Given the description of an element on the screen output the (x, y) to click on. 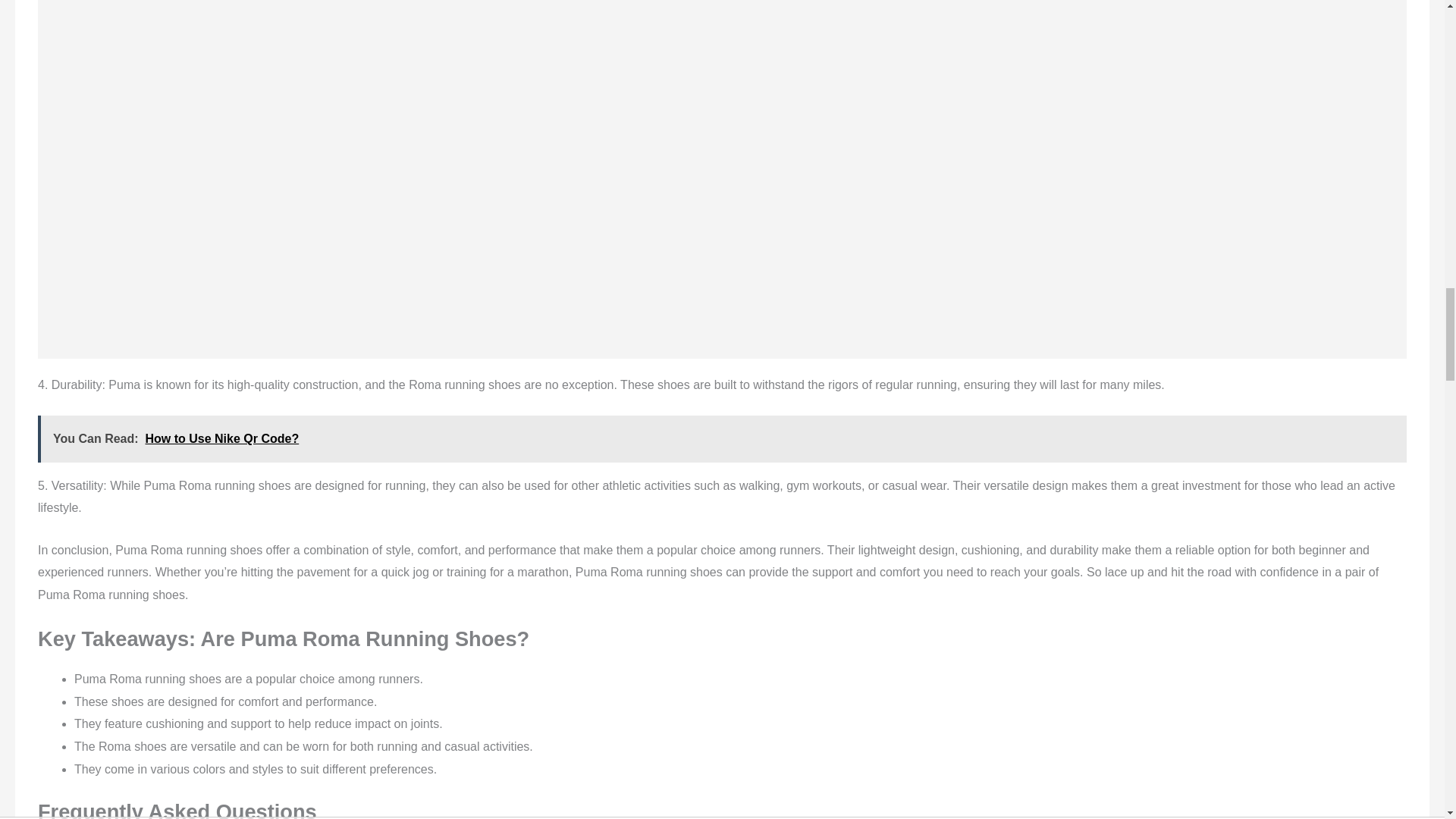
You Can Read:  How to Use Nike Qr Code? (721, 438)
